Given the description of an element on the screen output the (x, y) to click on. 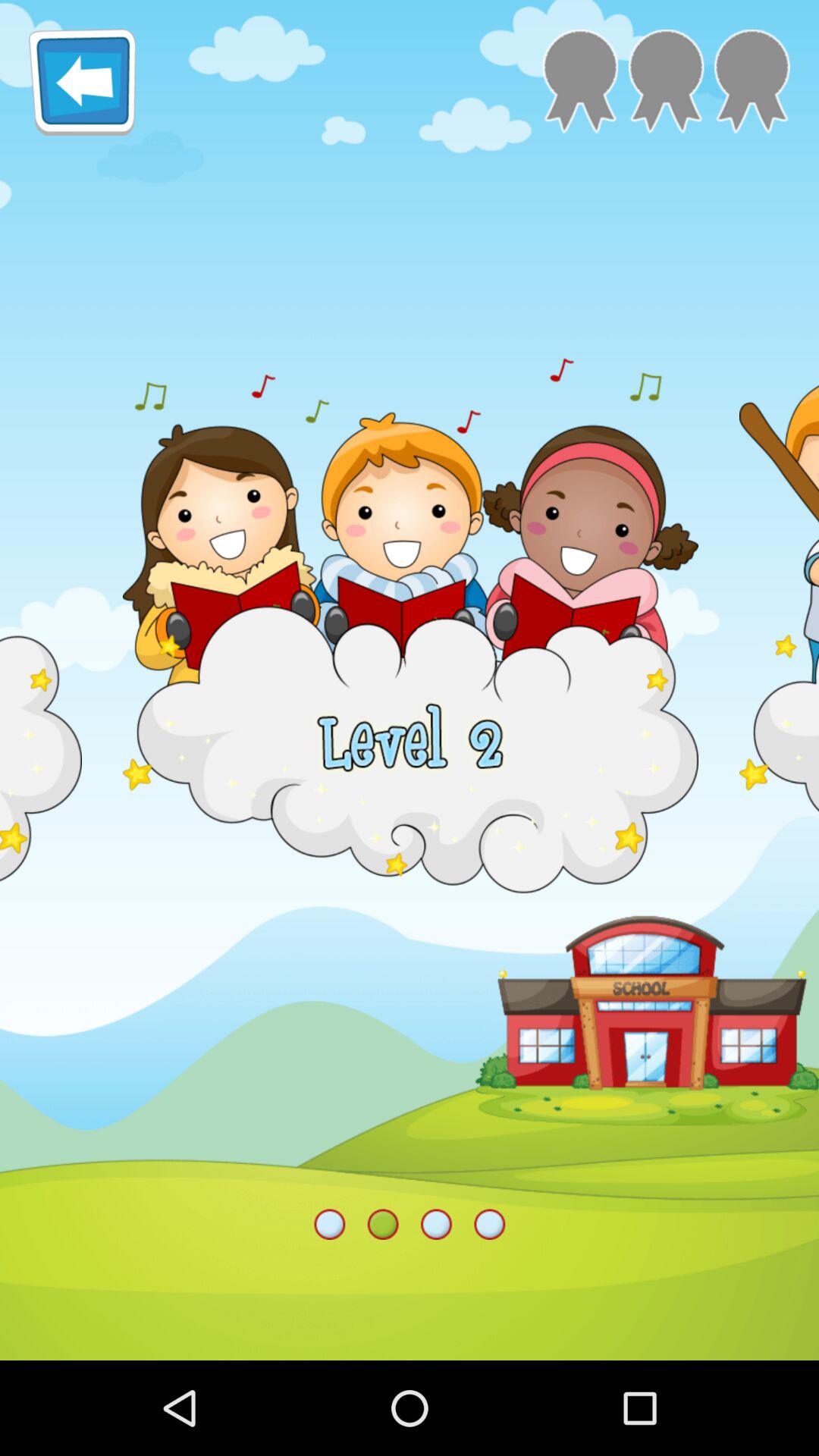
turn off the item at the top left corner (82, 82)
